Given the description of an element on the screen output the (x, y) to click on. 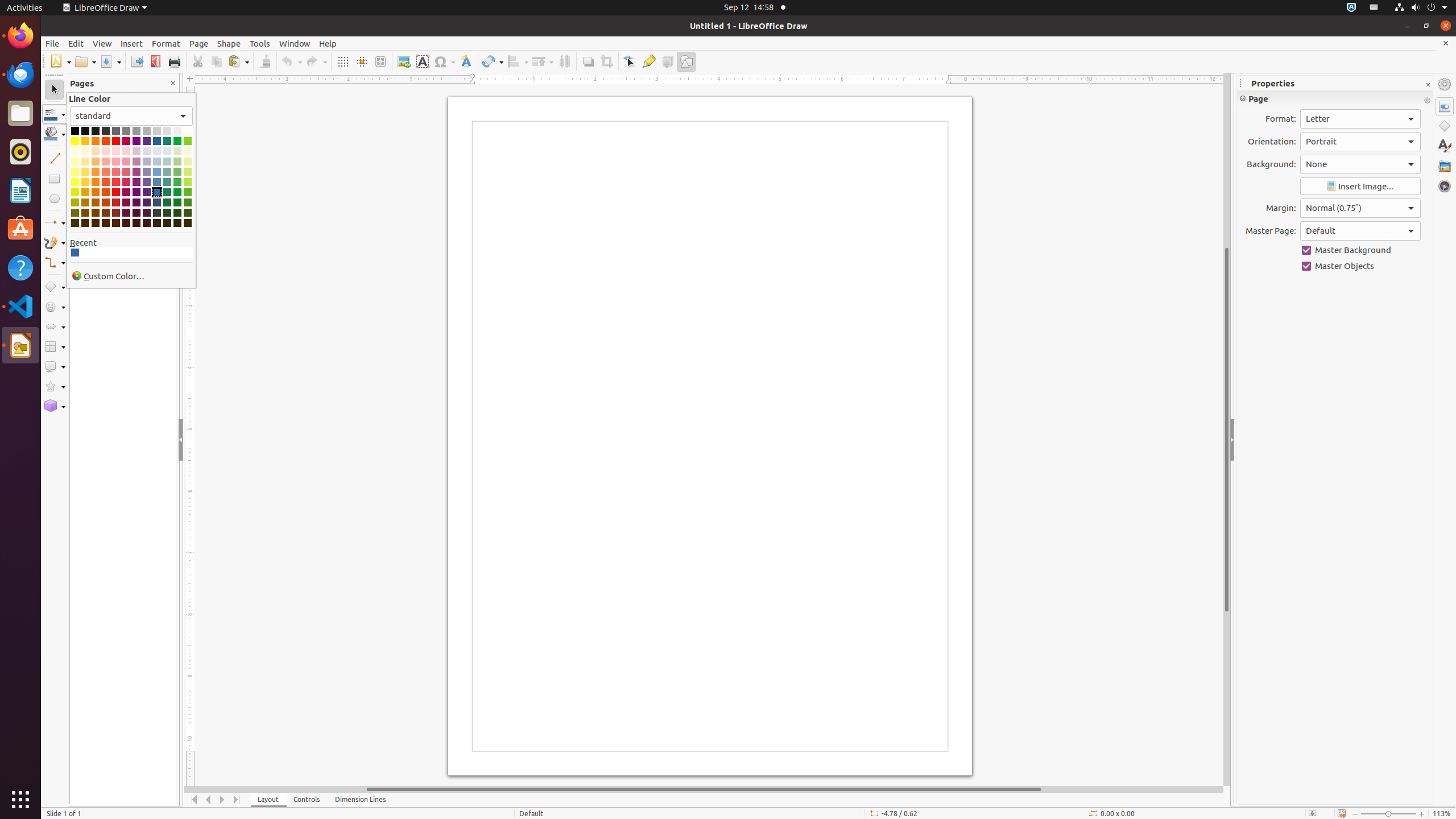
Crop Element type: push-button (606, 61)
Light Gray 2 Element type: list-item (146, 130)
Dark Lime 4 Element type: list-item (187, 222)
Light Purple 2 Element type: list-item (136, 171)
Lime Element type: list-item (187, 140)
